Given the description of an element on the screen output the (x, y) to click on. 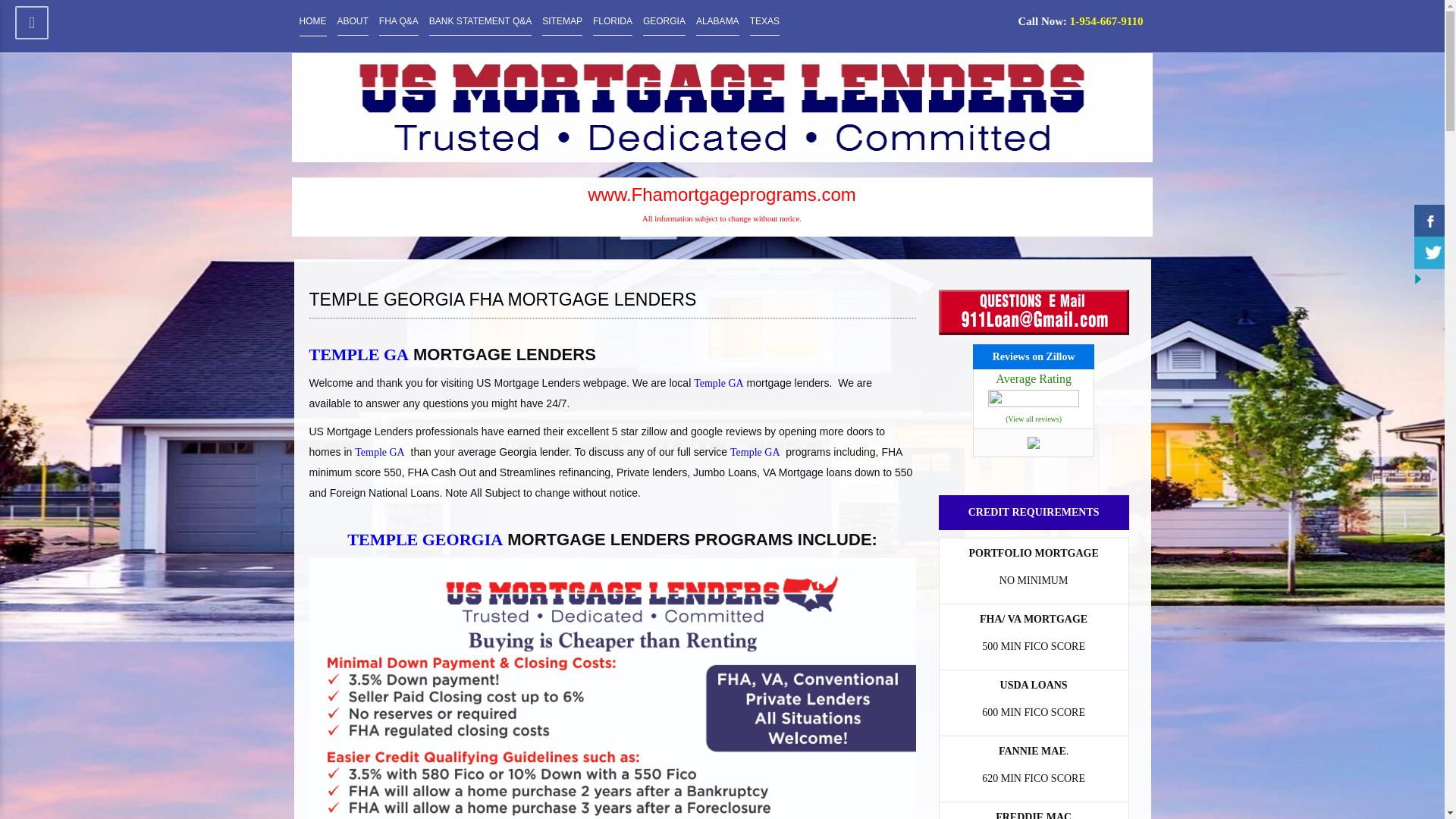
1-954-667-9110 (1106, 21)
www.Fhamortgageprograms.com (721, 194)
TEXAS (763, 21)
ALABAMA (717, 21)
ABOUT (352, 21)
HOME (312, 21)
FLORIDA (611, 21)
GEORGIA (664, 21)
SITEMAP (561, 21)
